Given the description of an element on the screen output the (x, y) to click on. 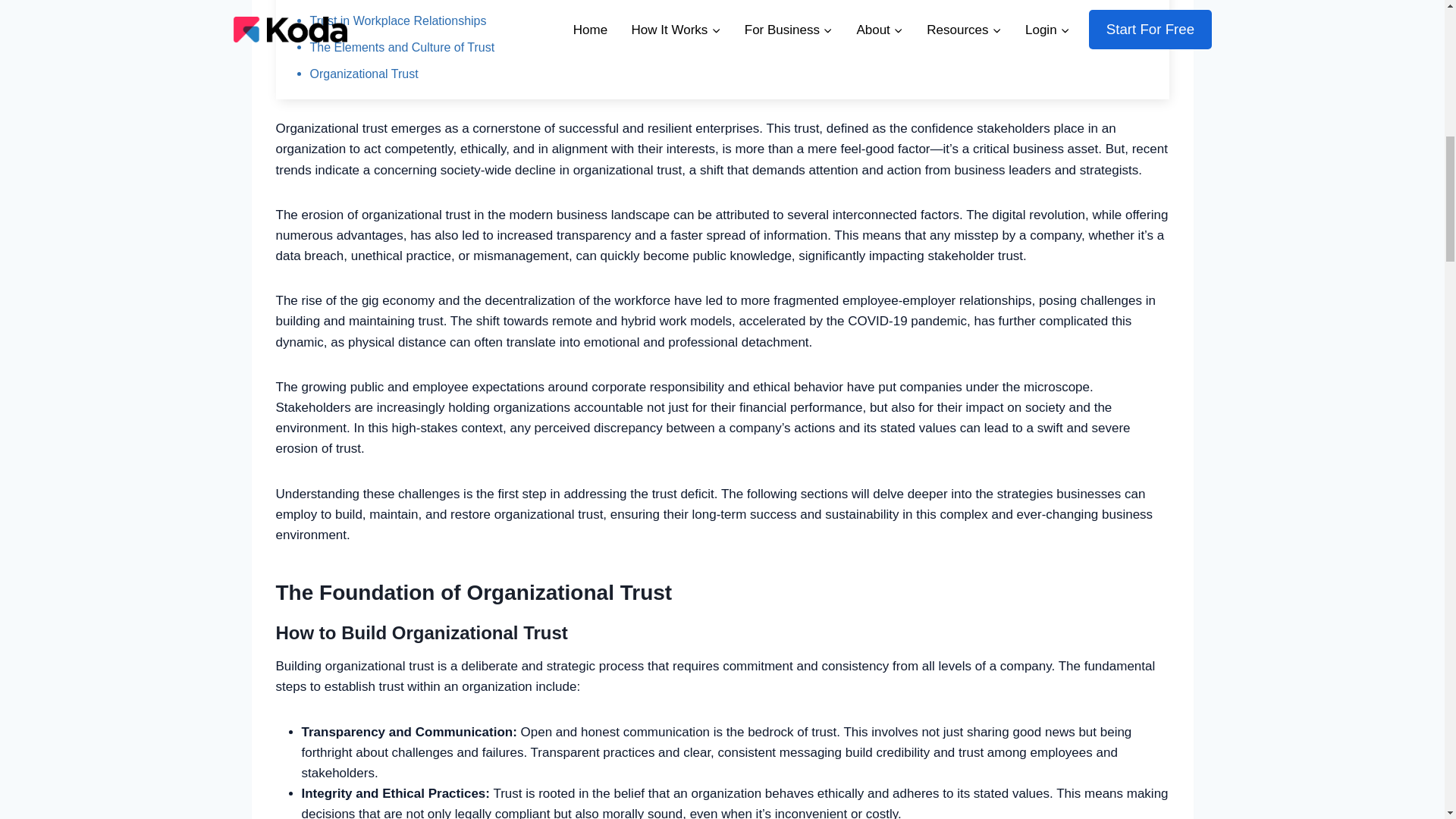
The Elements and Culture of Trust (401, 47)
Trust in Workplace Relationships (397, 20)
Organizational Trust (362, 73)
